Given the description of an element on the screen output the (x, y) to click on. 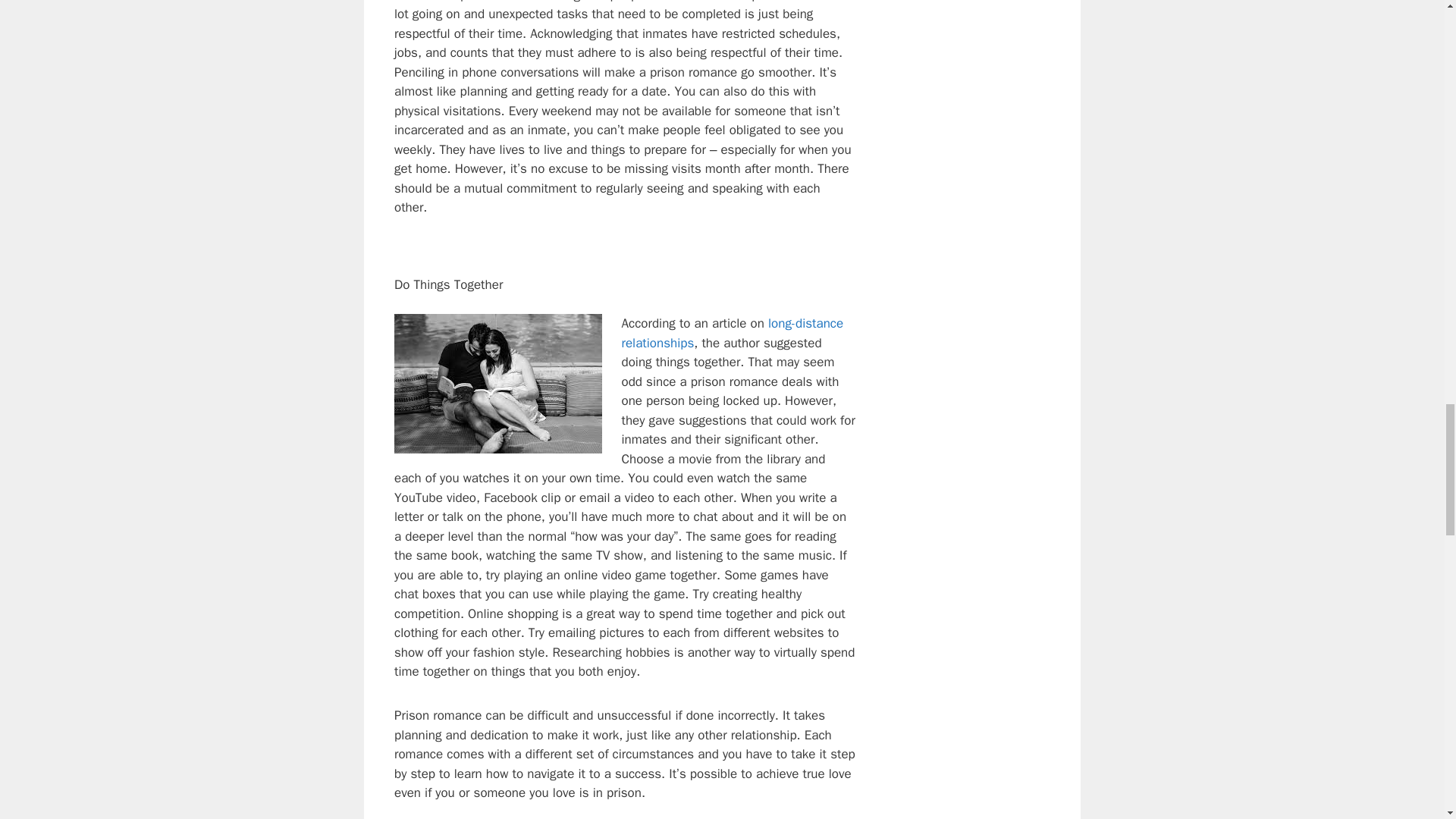
long-distance relationships (732, 333)
